Given the description of an element on the screen output the (x, y) to click on. 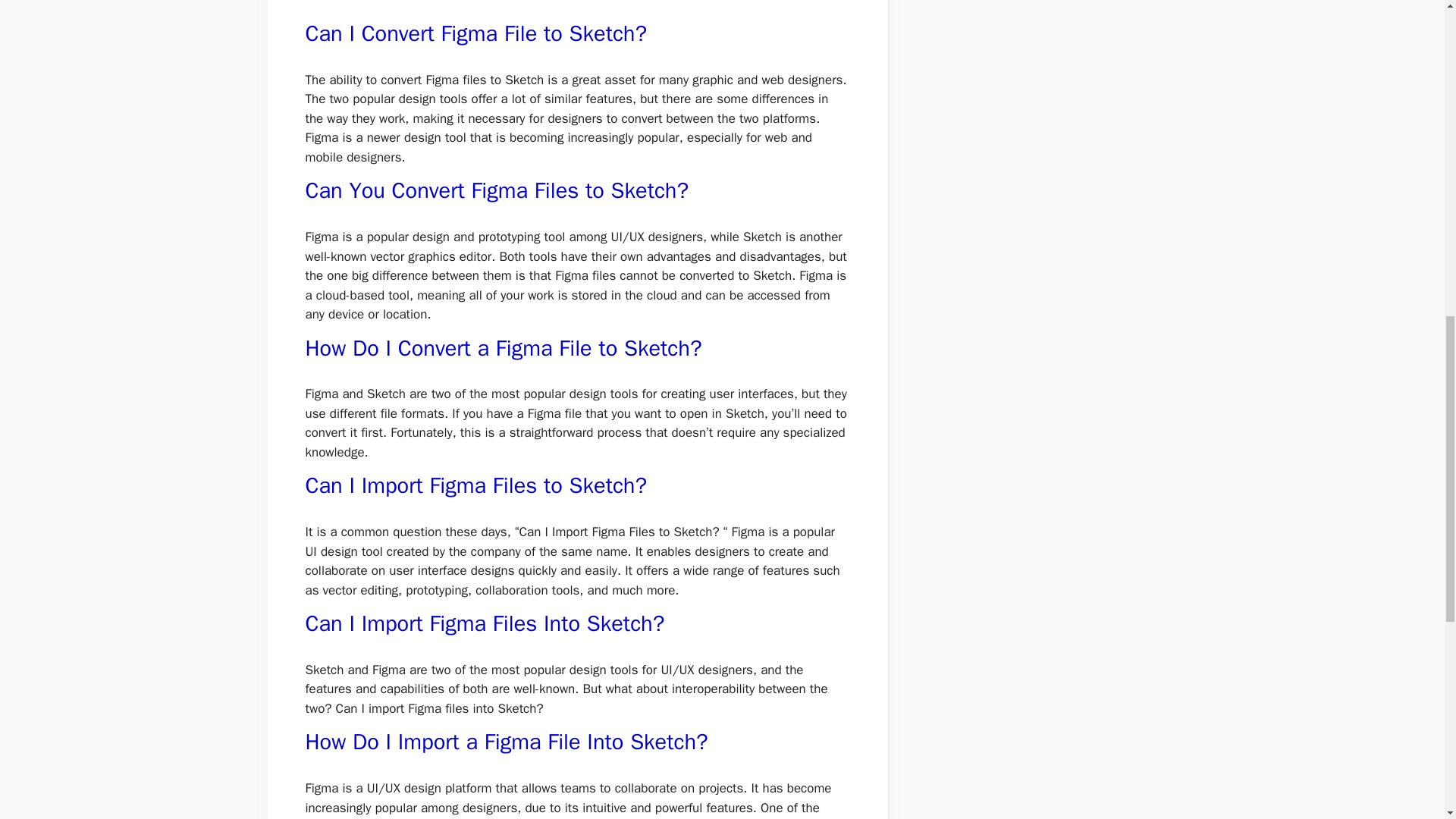
Can I Import Figma Files to Sketch? (475, 485)
How Do I Import a Figma File Into Sketch? (505, 741)
Can You Convert Figma Files to Sketch? (496, 190)
Can I Convert Figma File to Sketch? (475, 33)
Can I Import Figma Files Into Sketch? (483, 623)
How Do I Convert a Figma File to Sketch? (502, 348)
